Given the description of an element on the screen output the (x, y) to click on. 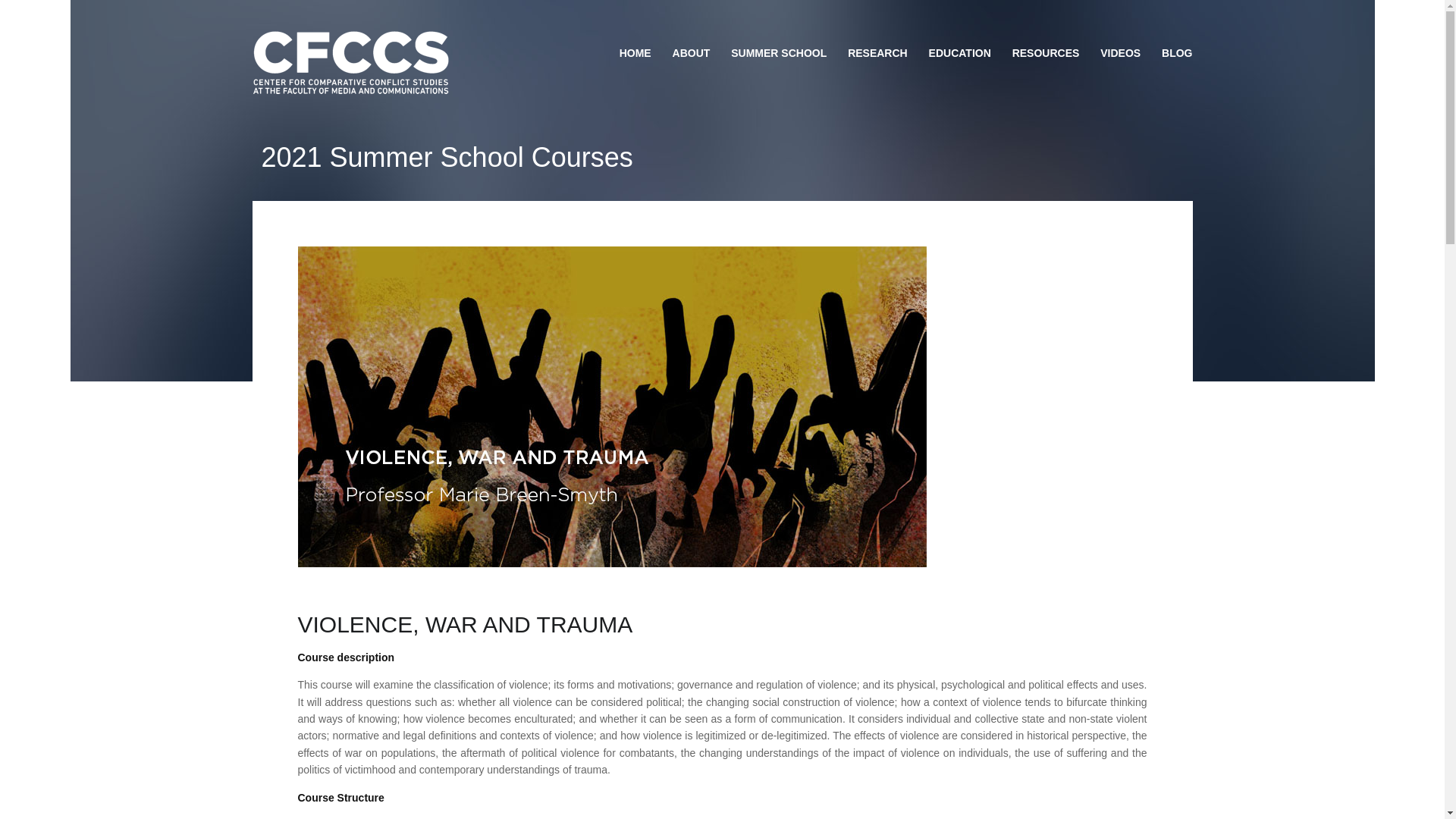
RESEARCH (877, 53)
University (349, 63)
VIDEOS (1120, 53)
ABOUT (691, 53)
EDUCATION (960, 53)
SUMMER SCHOOL (778, 53)
RESOURCES (1046, 53)
HOME (640, 53)
